Given the description of an element on the screen output the (x, y) to click on. 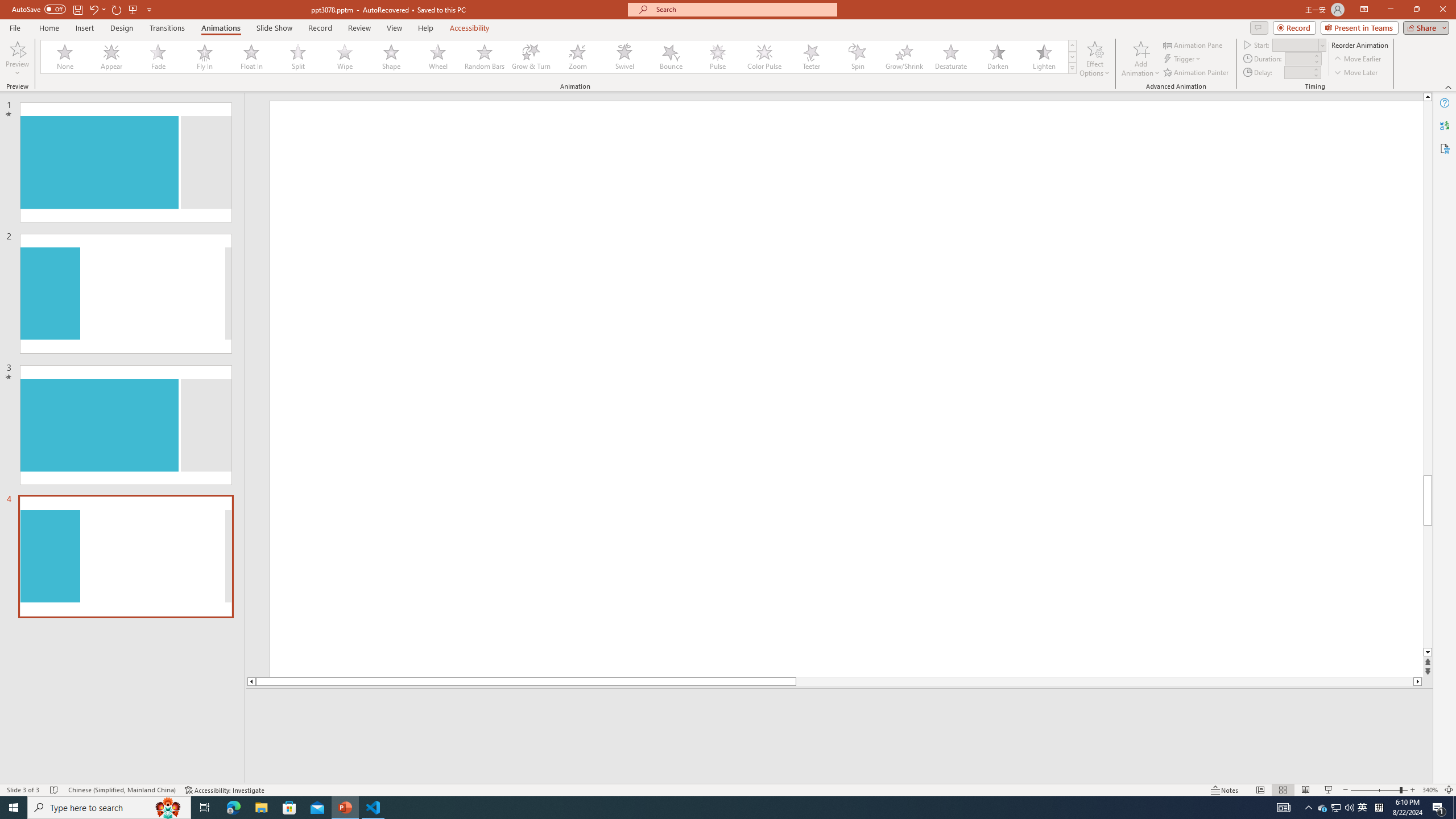
Spell Check No Errors (54, 790)
Accessibility (1444, 147)
Share (1423, 27)
Zoom Out (1375, 790)
Help (1444, 102)
Zoom (577, 56)
Float In (251, 56)
Restore Down (1416, 9)
File Tab (15, 27)
Grow/Shrink (903, 56)
Slide Notes (839, 705)
Line down (1427, 652)
Quick Access Toolbar (82, 9)
More Options (17, 68)
Close (1442, 9)
